Given the description of an element on the screen output the (x, y) to click on. 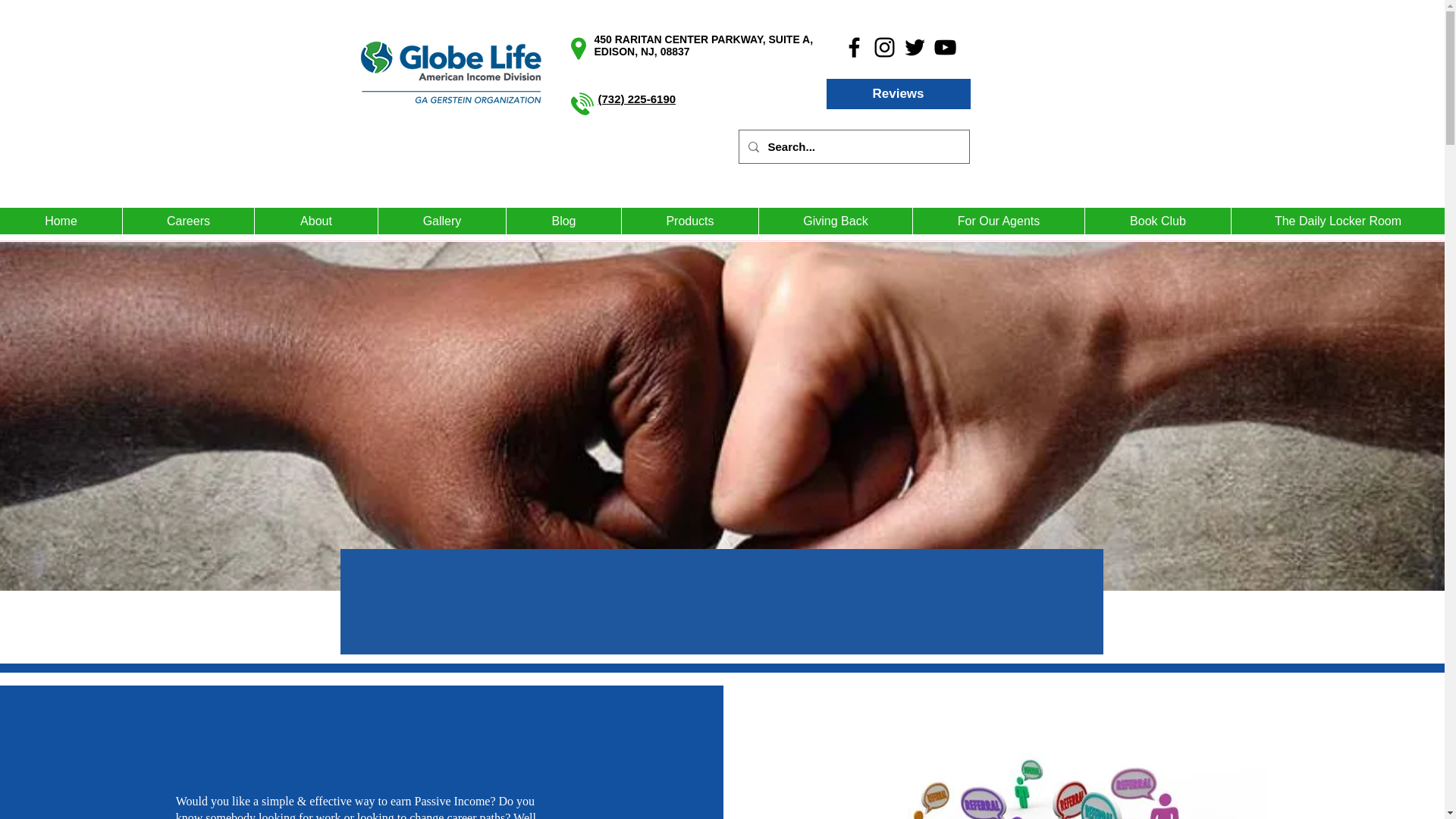
Reviews (899, 93)
Careers (187, 221)
Home (61, 221)
450 RARITAN CENTER PARKWAY, SUITE A, EDISON, NJ, 08837 (703, 45)
Gallery (441, 221)
Blog (563, 221)
